Given the description of an element on the screen output the (x, y) to click on. 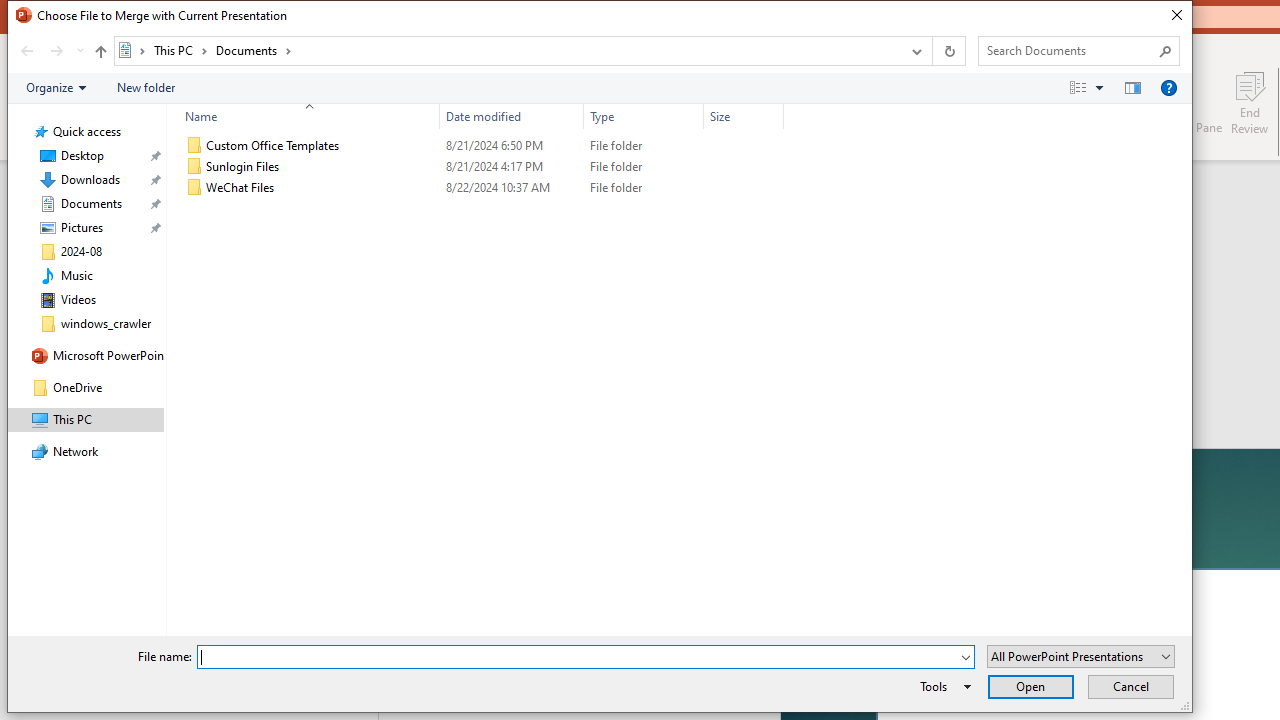
WeChat Files (480, 187)
Address: Documents (506, 51)
Back (Alt + Left Arrow) (26, 51)
Recent locations (79, 51)
Type (643, 187)
Name (321, 187)
Name (303, 115)
All locations (132, 50)
Type (643, 115)
This PC (180, 50)
Preview pane (1132, 87)
Navigation buttons (50, 51)
Custom Office Templates (480, 145)
Sunlogin Files (480, 166)
